Given the description of an element on the screen output the (x, y) to click on. 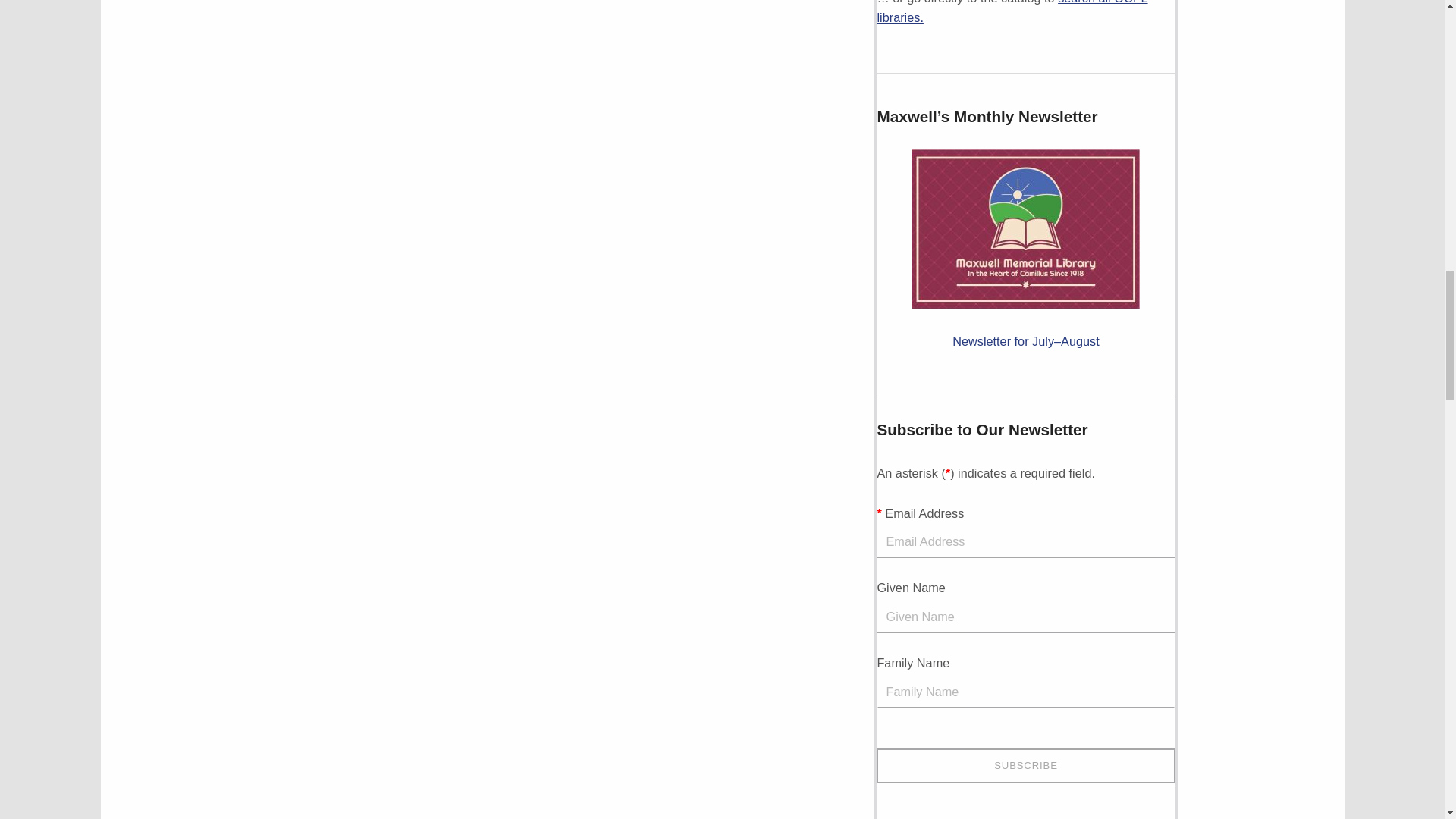
Subscribe (1025, 764)
